Given the description of an element on the screen output the (x, y) to click on. 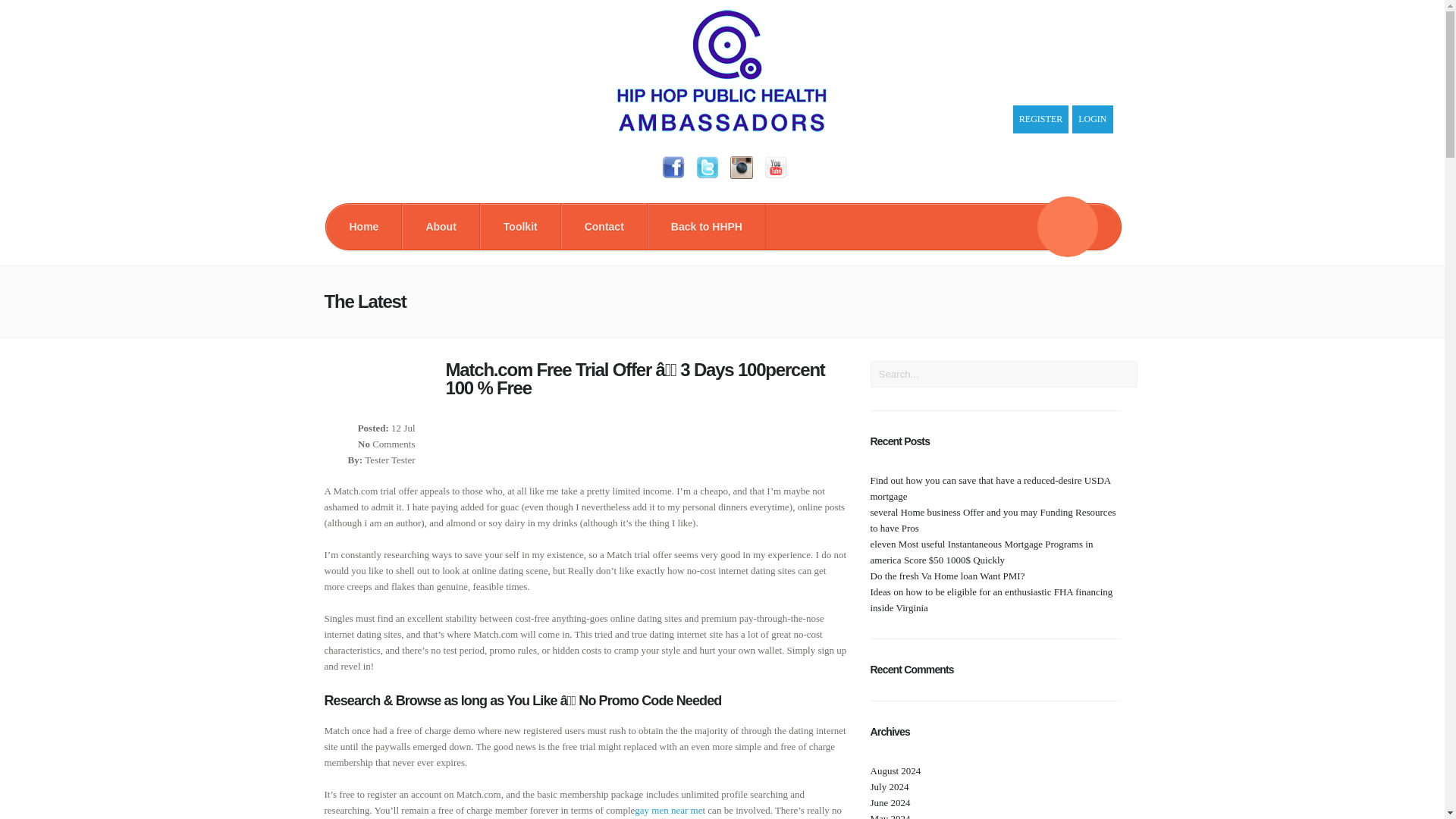
No Comments (386, 443)
Back to HHPH (706, 226)
gay men near me (667, 809)
August 2024 (895, 770)
HHPH Ambassador (721, 128)
June 2024 (890, 802)
Home (364, 226)
Toolkit (520, 226)
Do the fresh Va Home loan Want PMI? (947, 575)
